Given the description of an element on the screen output the (x, y) to click on. 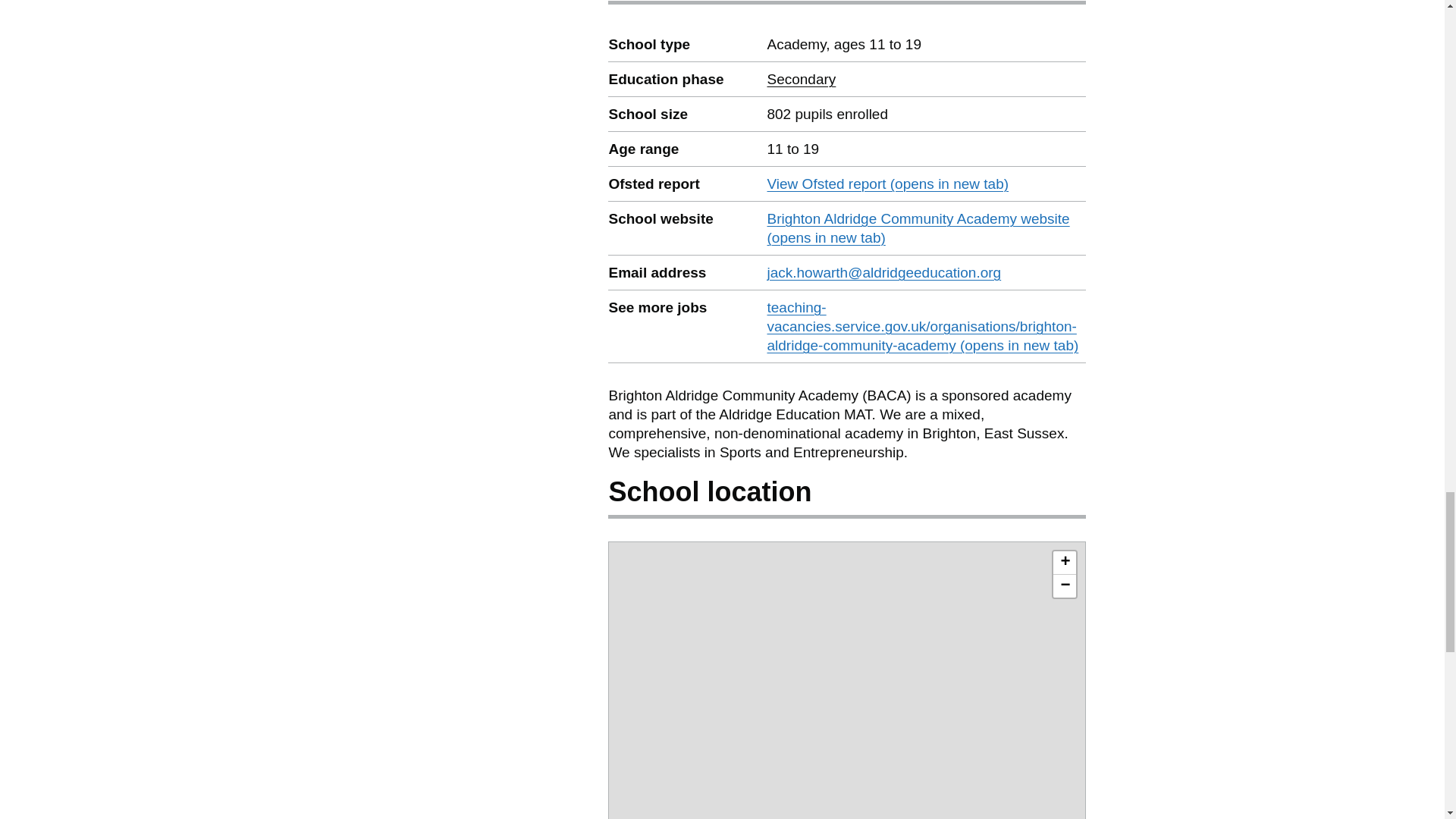
Zoom out (1063, 585)
Zoom in (801, 78)
